Given the description of an element on the screen output the (x, y) to click on. 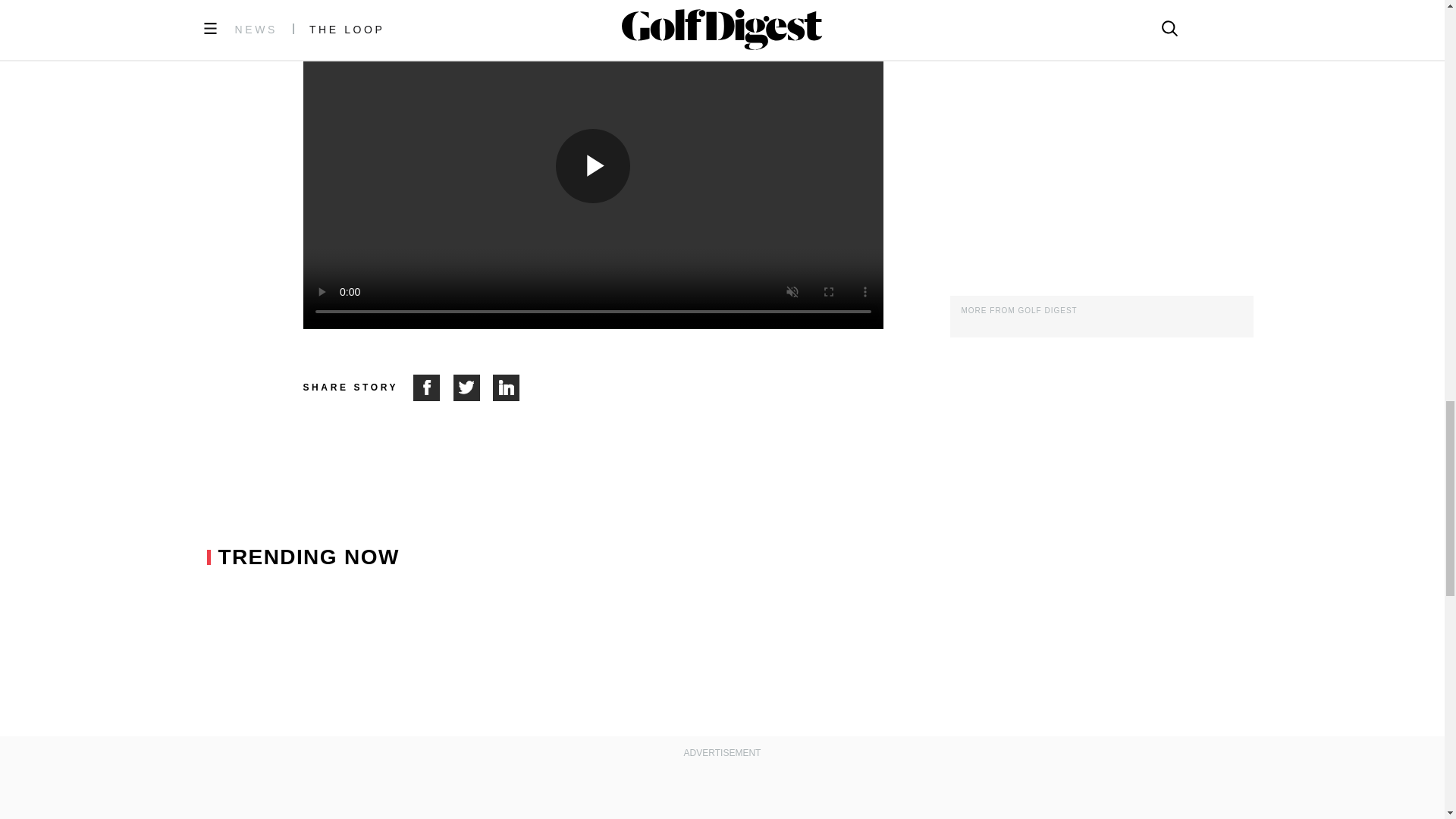
Share on LinkedIn (506, 387)
Share on Twitter (472, 387)
Play Video (593, 165)
Share on Facebook (432, 387)
